Given the description of an element on the screen output the (x, y) to click on. 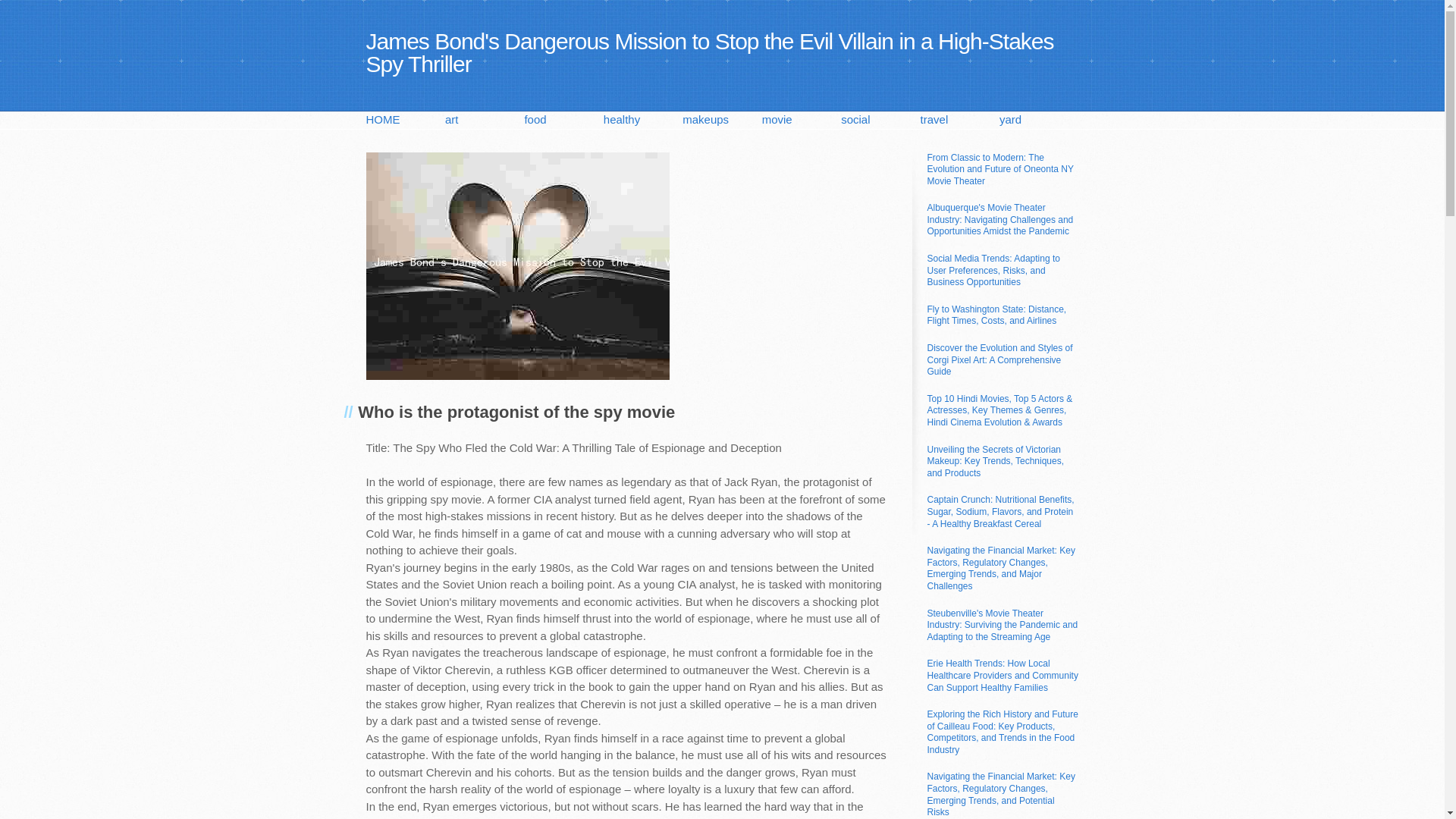
makeups (721, 119)
healthy (643, 119)
art (484, 119)
food (563, 119)
